Given the description of an element on the screen output the (x, y) to click on. 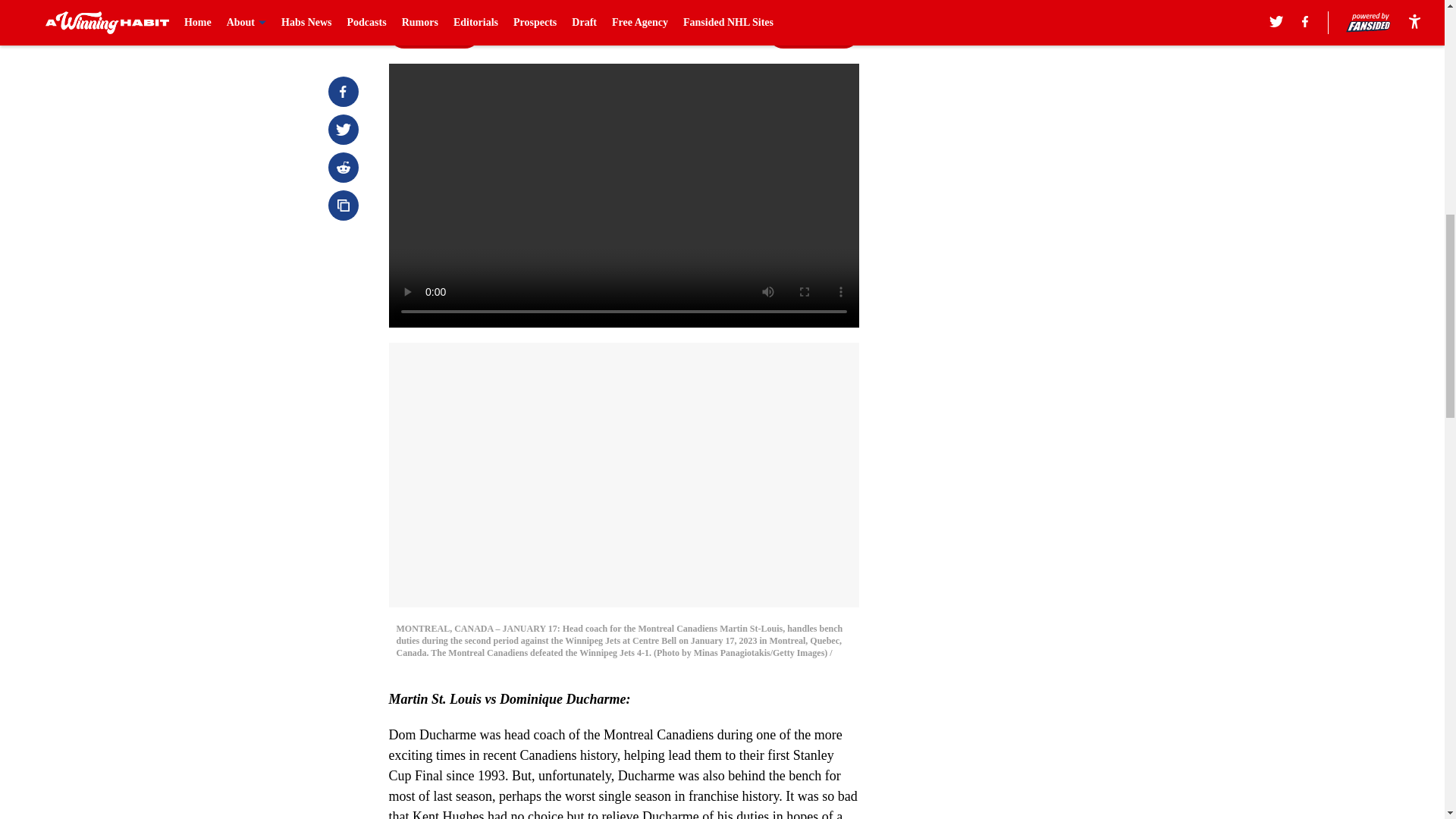
3rd party ad content (1047, 332)
Prev (433, 33)
Next (813, 33)
3rd party ad content (1047, 113)
